Given the description of an element on the screen output the (x, y) to click on. 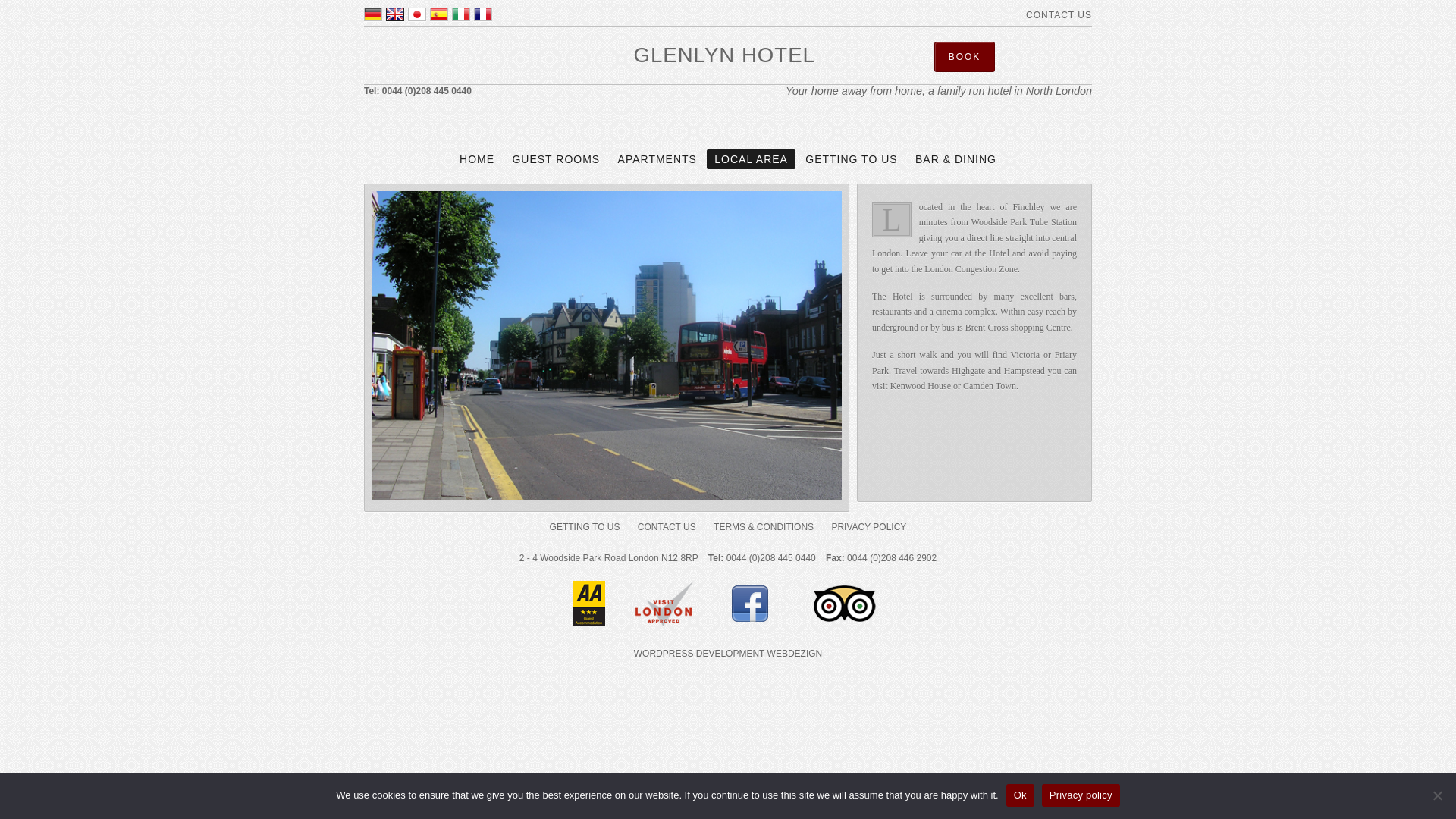
GUEST ROOMS (555, 158)
CONTACT US (666, 526)
English (395, 14)
Italiano (460, 14)
APARTMENTS (657, 158)
Deutsch (373, 14)
HOME (476, 158)
GETTING TO US (584, 526)
